Given the description of an element on the screen output the (x, y) to click on. 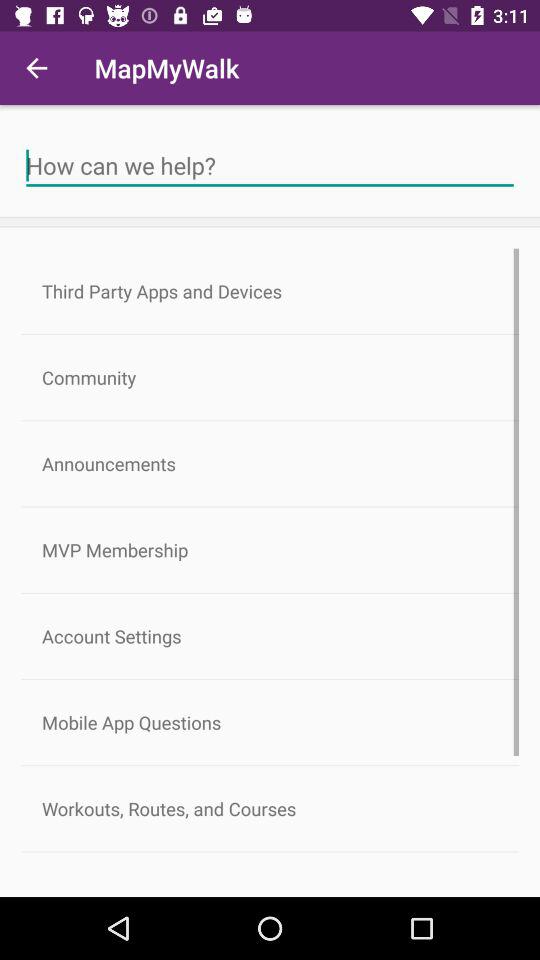
open item below the third party apps item (269, 377)
